Given the description of an element on the screen output the (x, y) to click on. 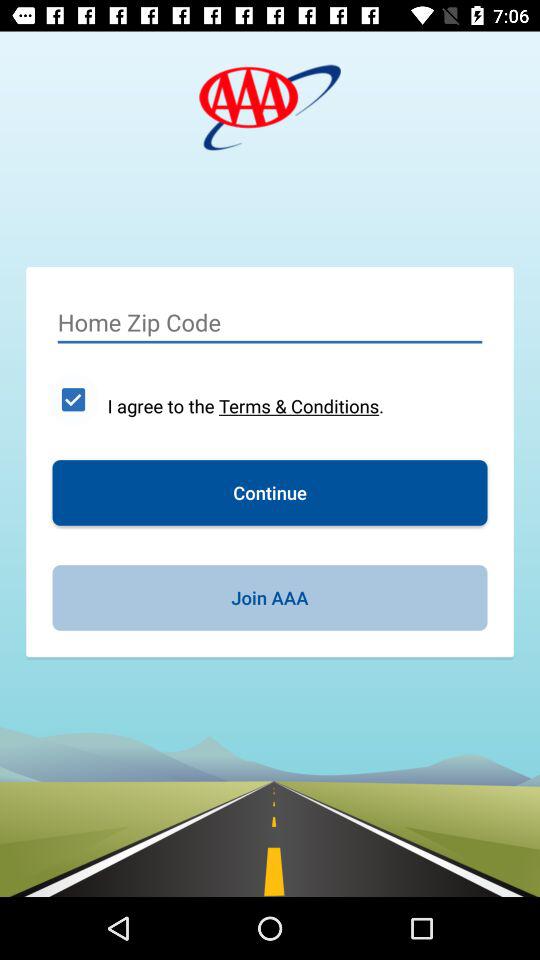
flip to the i agree to item (245, 405)
